Given the description of an element on the screen output the (x, y) to click on. 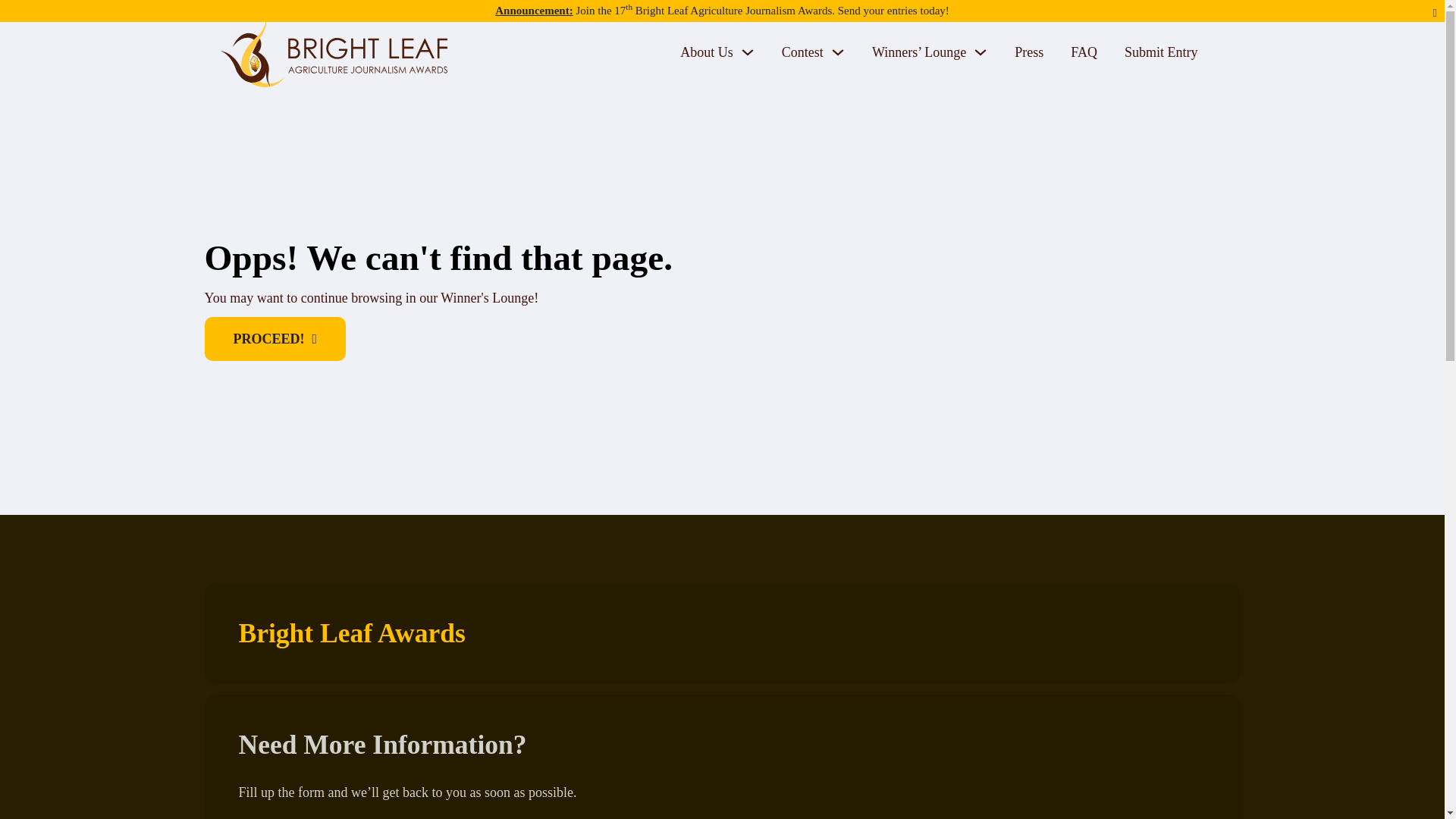
Contest (802, 52)
About Us (706, 52)
Press (1028, 52)
Submit Entry (1161, 52)
PROCEED! (275, 338)
FAQ (1083, 52)
